Given the description of an element on the screen output the (x, y) to click on. 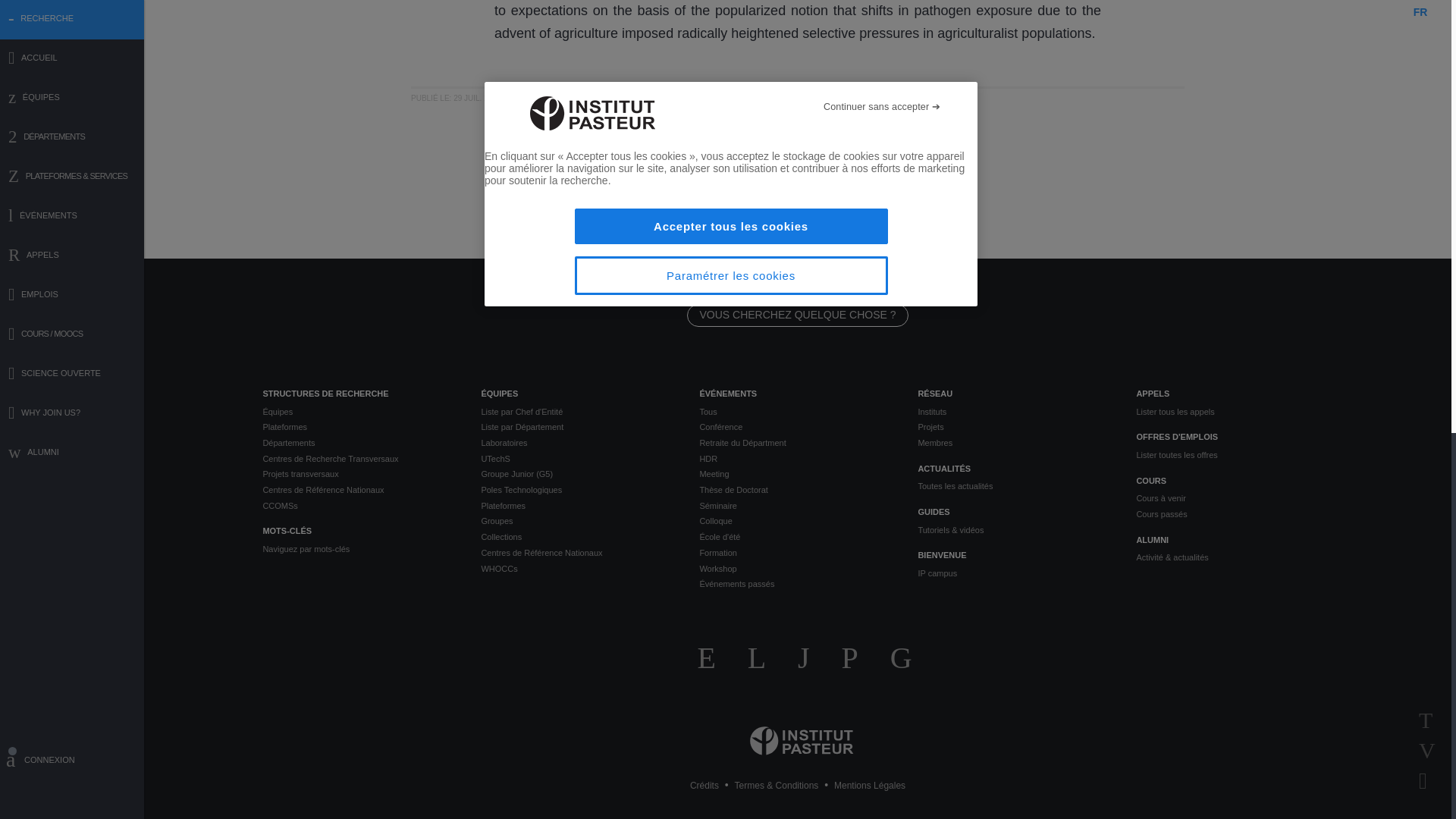
Plateformes (360, 427)
